Given the description of an element on the screen output the (x, y) to click on. 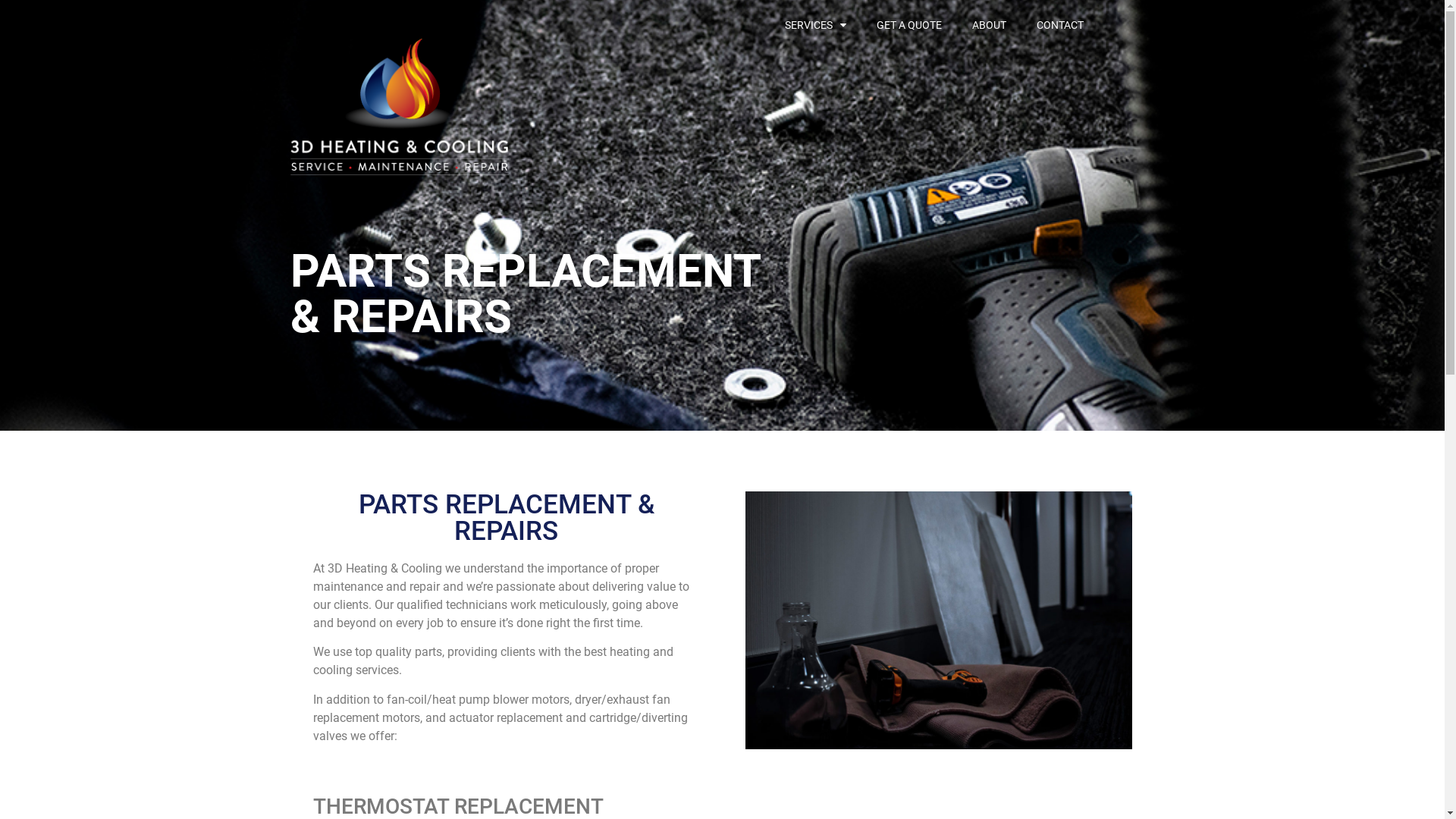
SERVICES Element type: text (815, 24)
ABOUT Element type: text (989, 24)
CONTACT Element type: text (1059, 24)
GET A QUOTE Element type: text (909, 24)
